Given the description of an element on the screen output the (x, y) to click on. 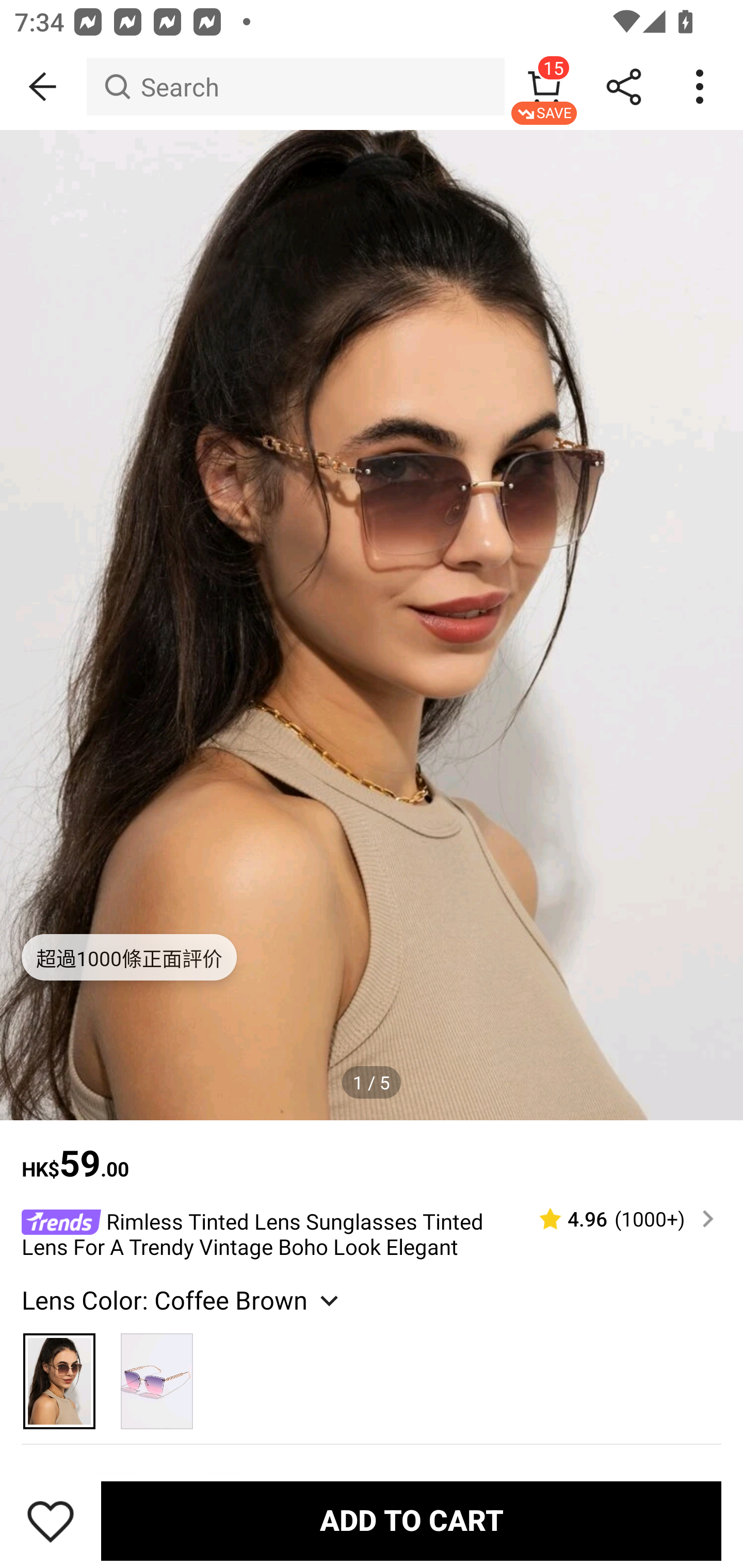
BACK (43, 86)
15 SAVE (543, 87)
Search (295, 87)
1 / 5 (371, 1082)
HK$59.00 (371, 1152)
4.96 (1000‎+) (617, 1219)
Lens Color: Coffee Brown (182, 1299)
Coffee Brown (59, 1373)
Pink (156, 1373)
ADD TO CART (411, 1520)
Save (50, 1520)
